Given the description of an element on the screen output the (x, y) to click on. 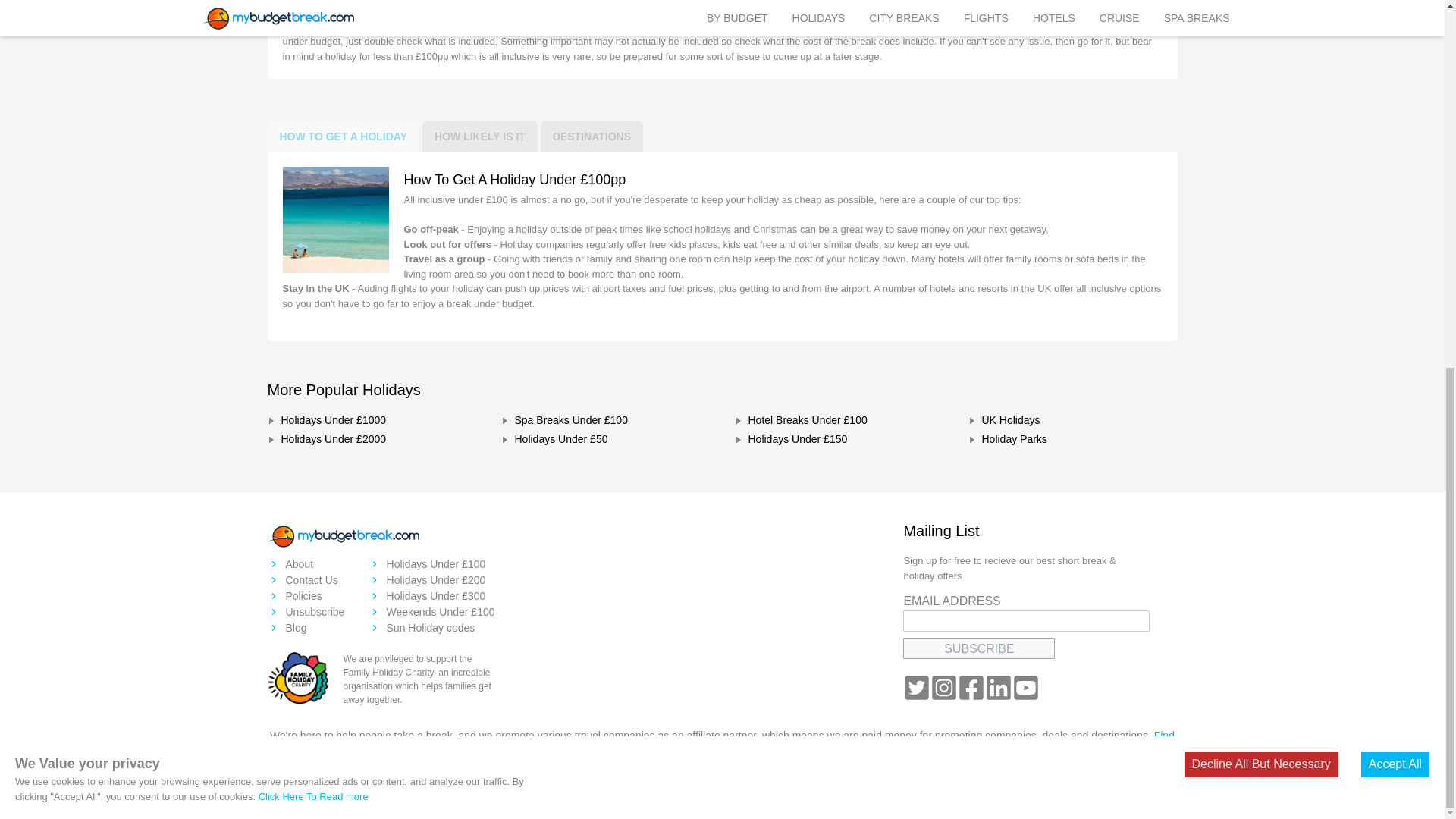
Contact us page (304, 580)
Weekend holidays under 100 pounds (431, 611)
Unsubscribe page (304, 611)
HOW TO GET A HOLIDAY (342, 136)
Holidays under 300 pounds (431, 596)
Contact Us (304, 580)
home page (342, 535)
Beach holidays under 100 pounds (431, 564)
Holidays under 200 pounds (431, 580)
Holiday Parks (1072, 440)
UK Holidays (1072, 421)
Click Here To Read more (313, 131)
Unsubscribe (304, 611)
Accept All (1395, 99)
Holiday Parks (1072, 440)
